Given the description of an element on the screen output the (x, y) to click on. 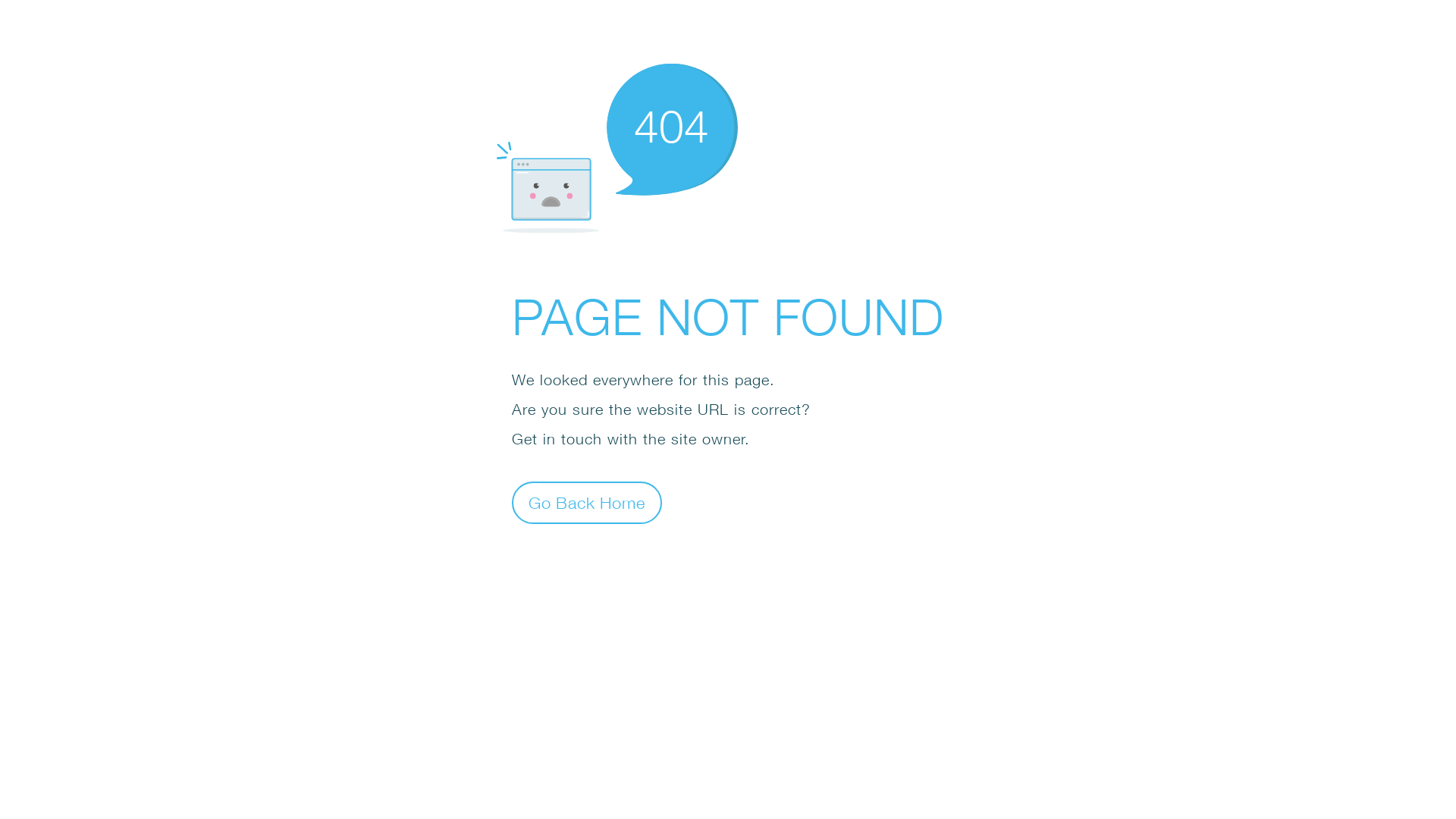
Go Back Home Element type: text (586, 502)
